Given the description of an element on the screen output the (x, y) to click on. 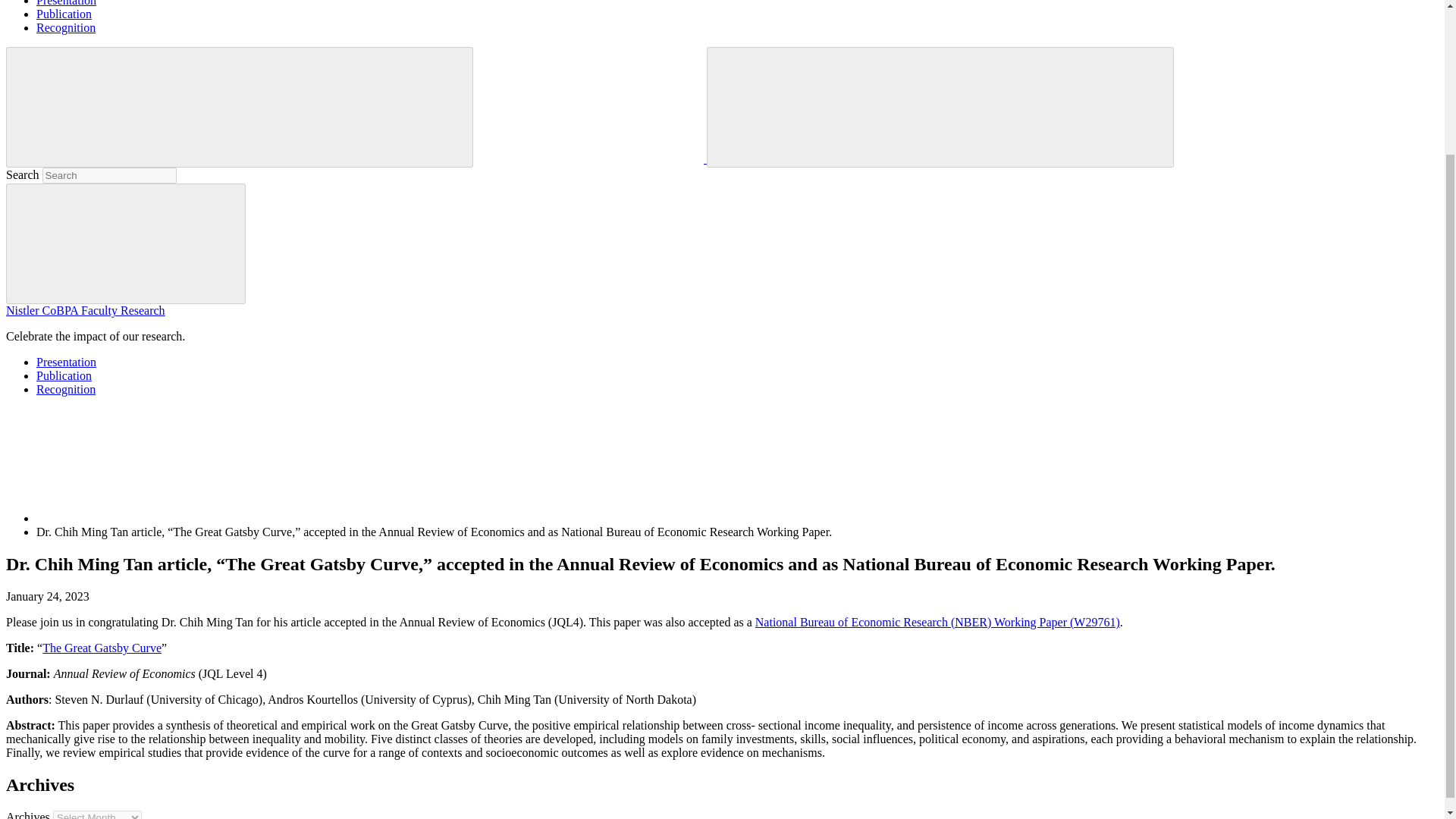
Publication (63, 13)
Home (149, 465)
Open SearchClose Search (939, 106)
Submit (125, 243)
University of North Dakota (591, 158)
Home (149, 517)
Open Menu (125, 105)
Nistler CoBPA Faculty Research (85, 309)
Publication (63, 375)
Recognition (66, 389)
University of North Dakota (589, 105)
Presentation (66, 361)
Submit (125, 242)
Close Search (1053, 105)
Open Search (826, 105)
